Given the description of an element on the screen output the (x, y) to click on. 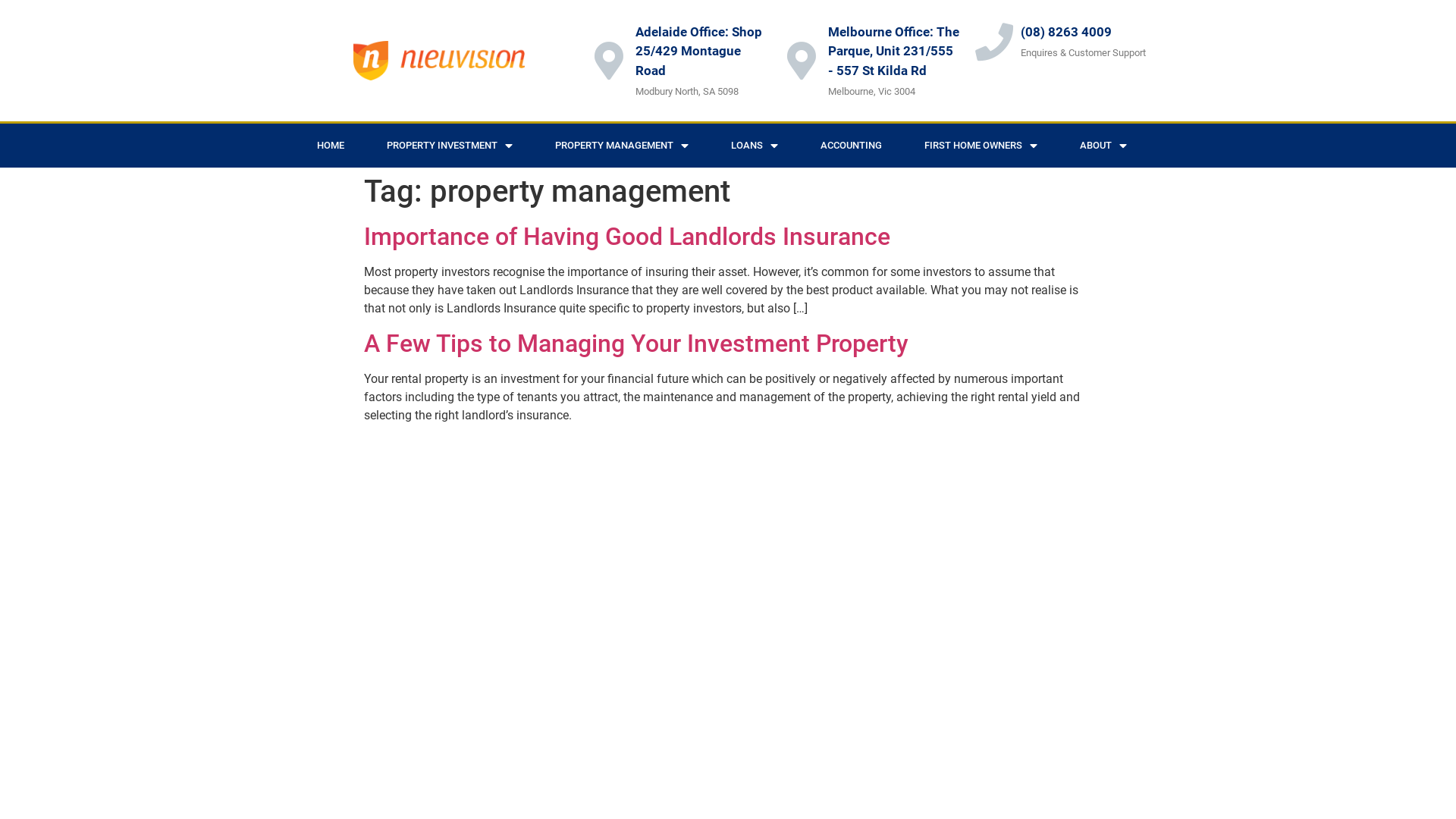
PROPERTY MANAGEMENT Element type: text (621, 145)
HOME Element type: text (330, 145)
ACCOUNTING Element type: text (851, 145)
Importance of Having Good Landlords Insurance Element type: text (627, 236)
A Few Tips to Managing Your Investment Property Element type: text (636, 343)
PROPERTY INVESTMENT Element type: text (449, 145)
LOANS Element type: text (754, 145)
ABOUT Element type: text (1103, 145)
FIRST HOME OWNERS Element type: text (980, 145)
